Given the description of an element on the screen output the (x, y) to click on. 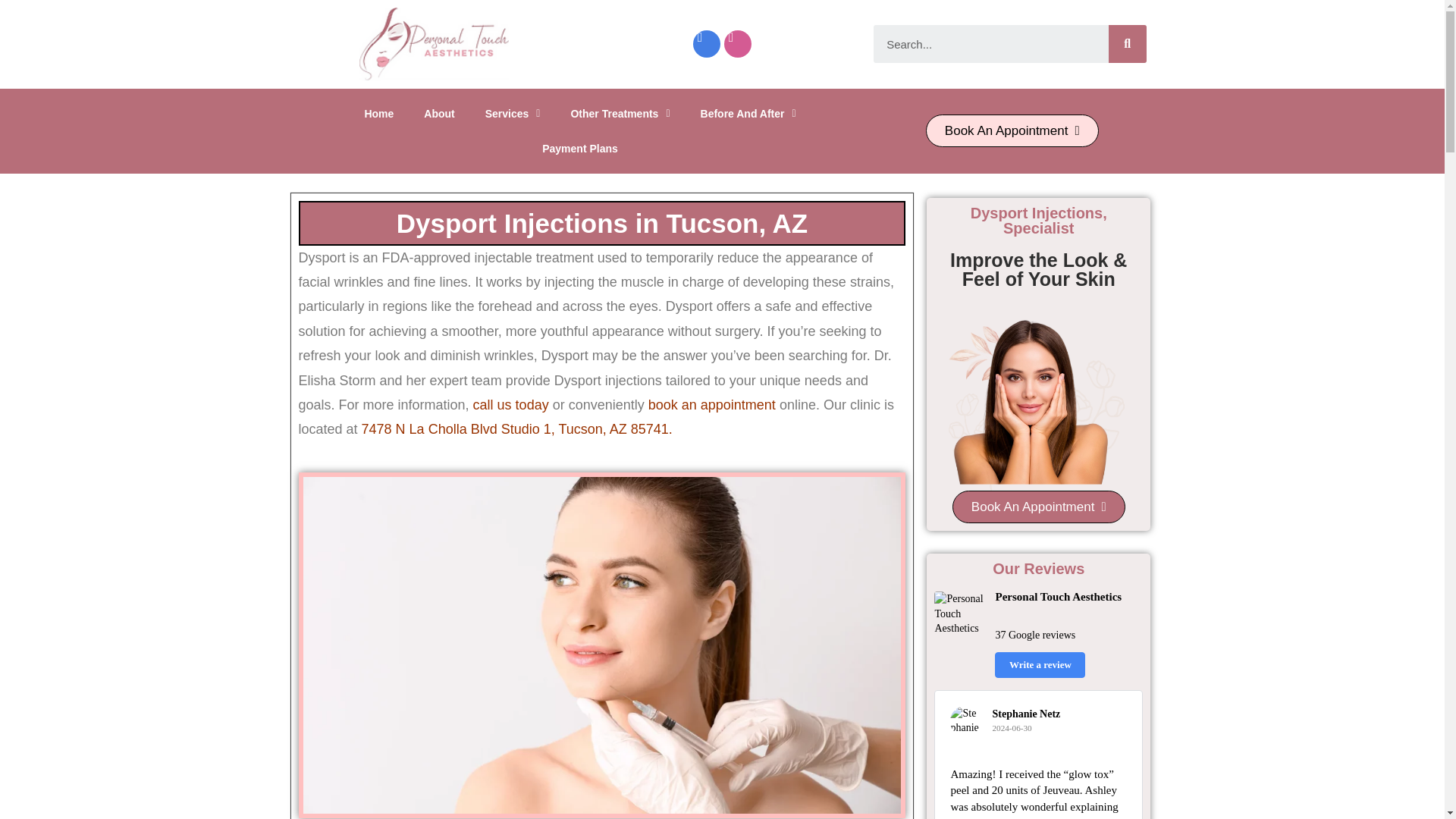
Home (379, 113)
Before And After (747, 113)
Other Treatments (619, 113)
Payment Plans (580, 148)
Search (990, 44)
Search (1127, 44)
About (438, 113)
Services (513, 113)
